Given the description of an element on the screen output the (x, y) to click on. 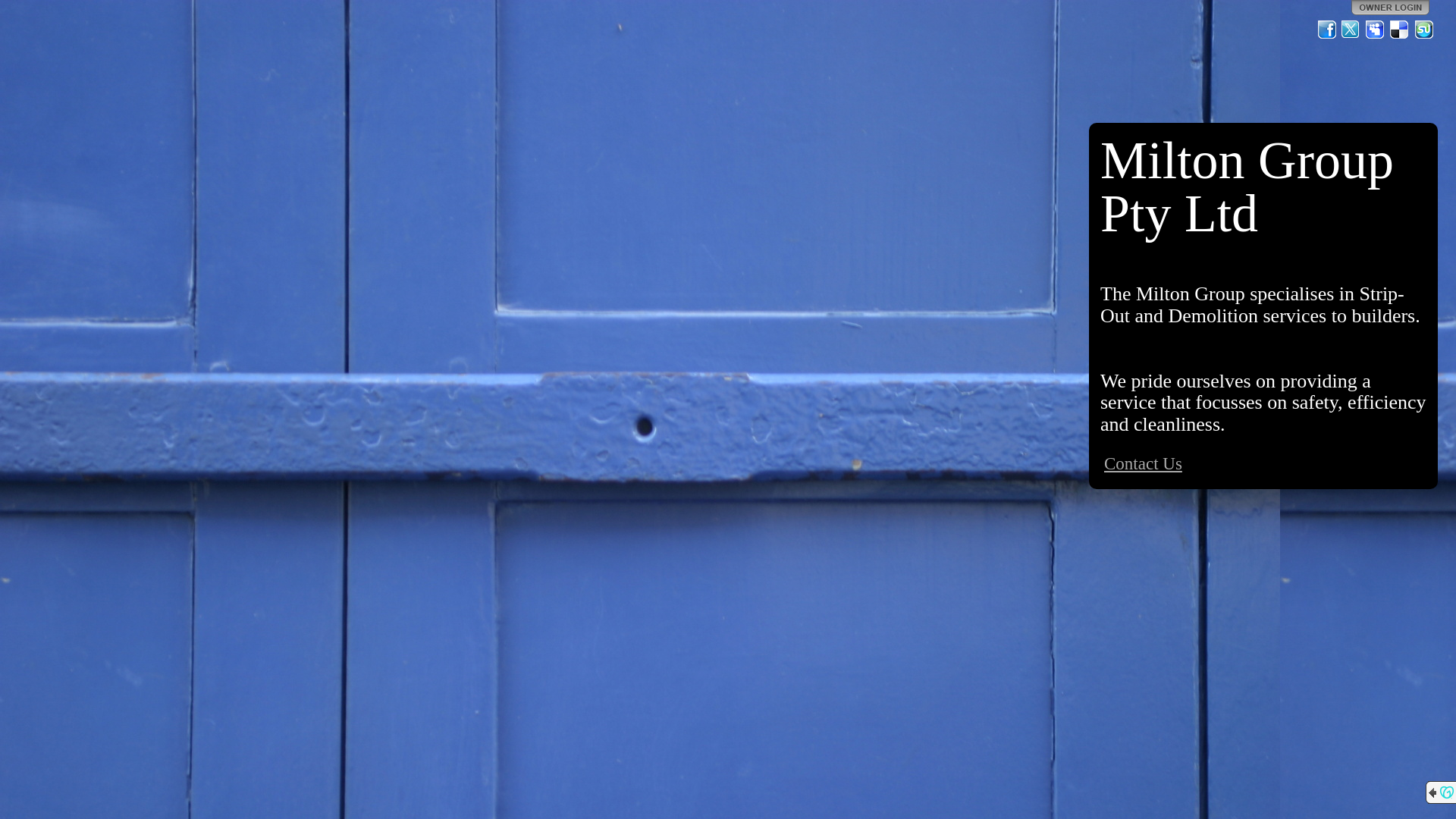
Del.icio.us Element type: text (1399, 29)
StumbleUpon Element type: text (1423, 29)
Twitter Element type: text (1350, 29)
Facebook Element type: text (1326, 29)
MySpace Element type: text (1375, 29)
Contact Us Element type: text (1143, 463)
